Given the description of an element on the screen output the (x, y) to click on. 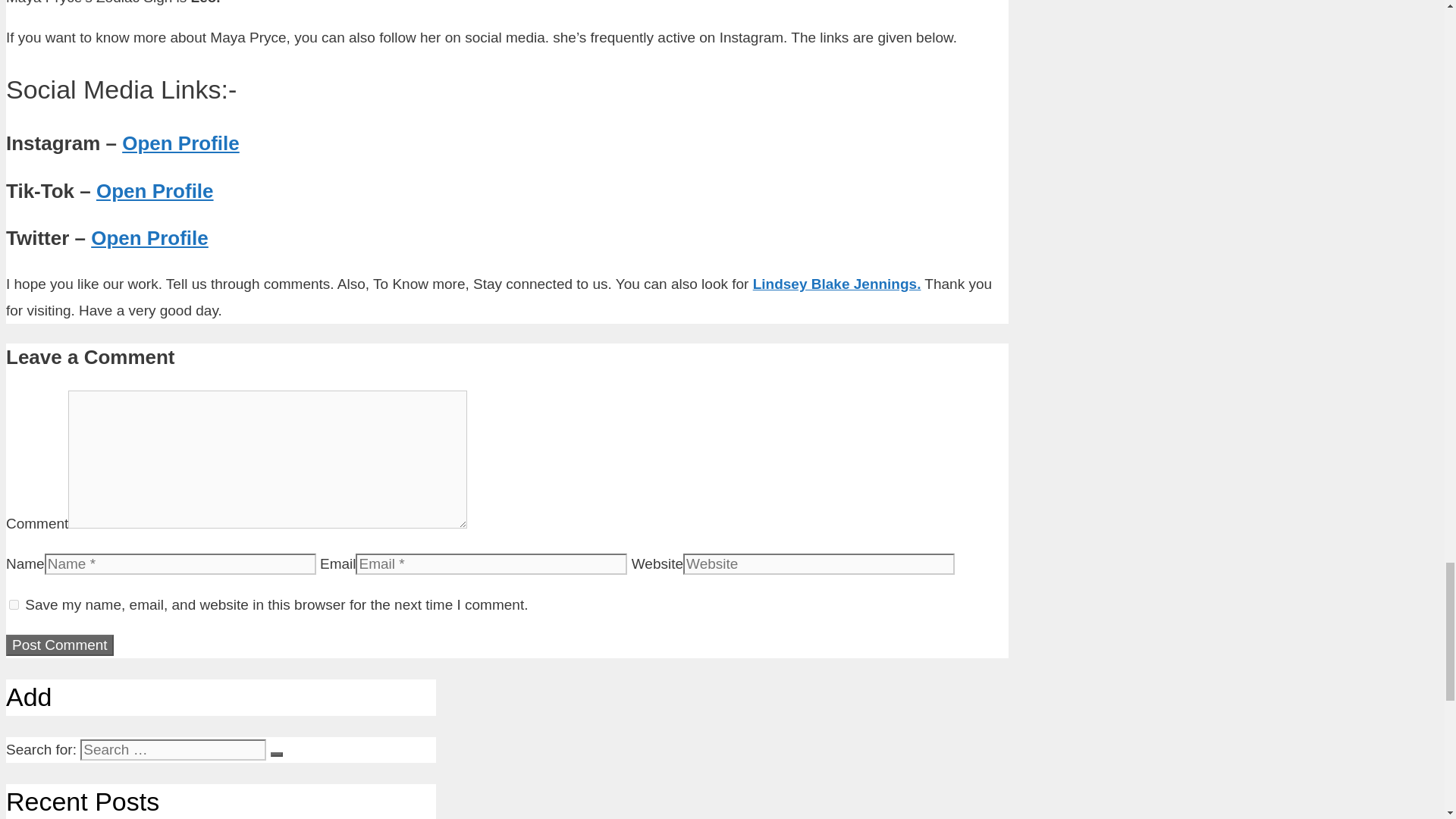
Lindsey Blake Jennings. (836, 283)
yes (13, 604)
Open Profile (155, 190)
Post Comment (59, 645)
Post Comment (59, 645)
Open Profile (149, 237)
Search for: (173, 749)
Open Profile (181, 142)
